Given the description of an element on the screen output the (x, y) to click on. 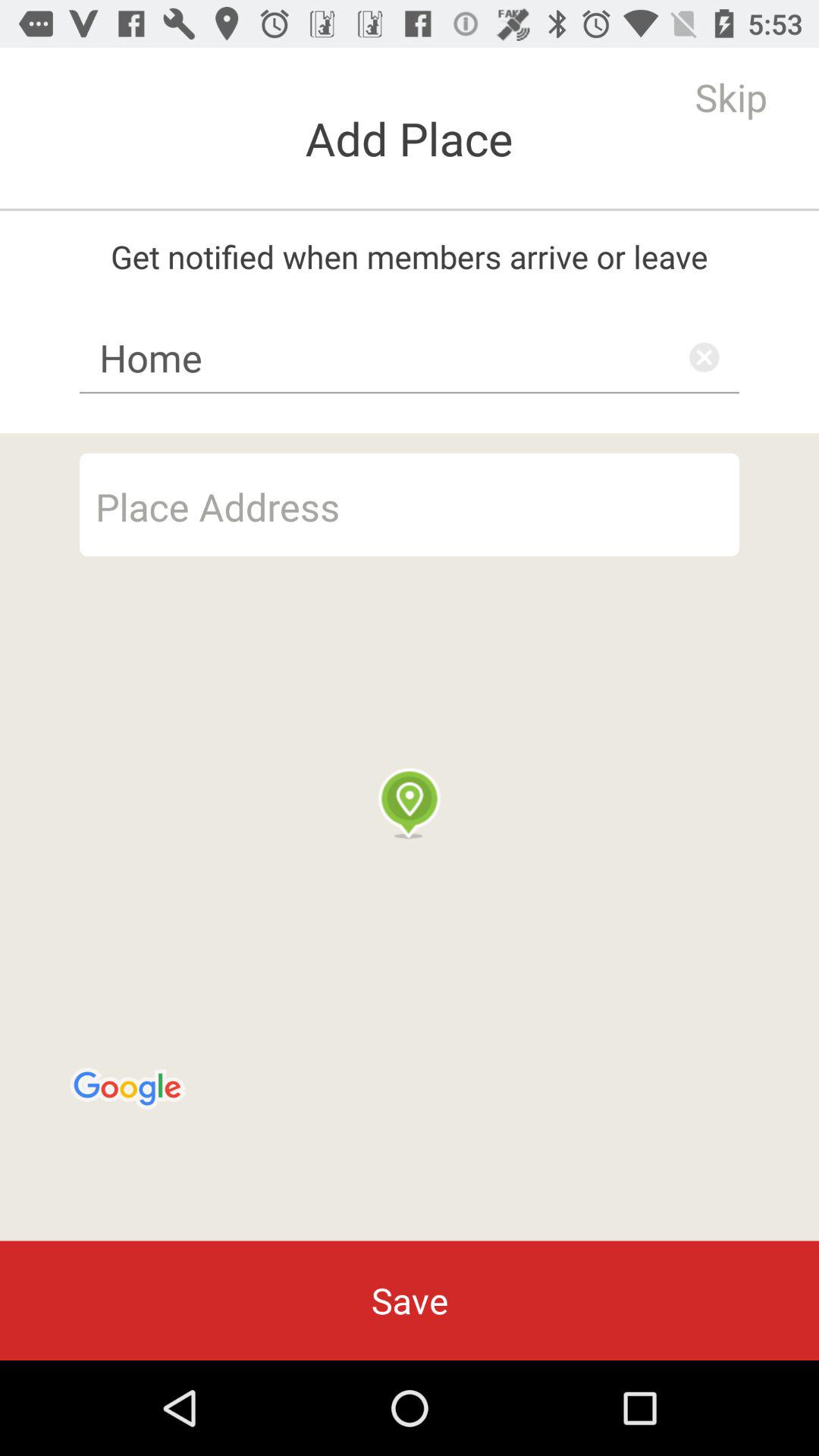
open the icon below home item (409, 504)
